Given the description of an element on the screen output the (x, y) to click on. 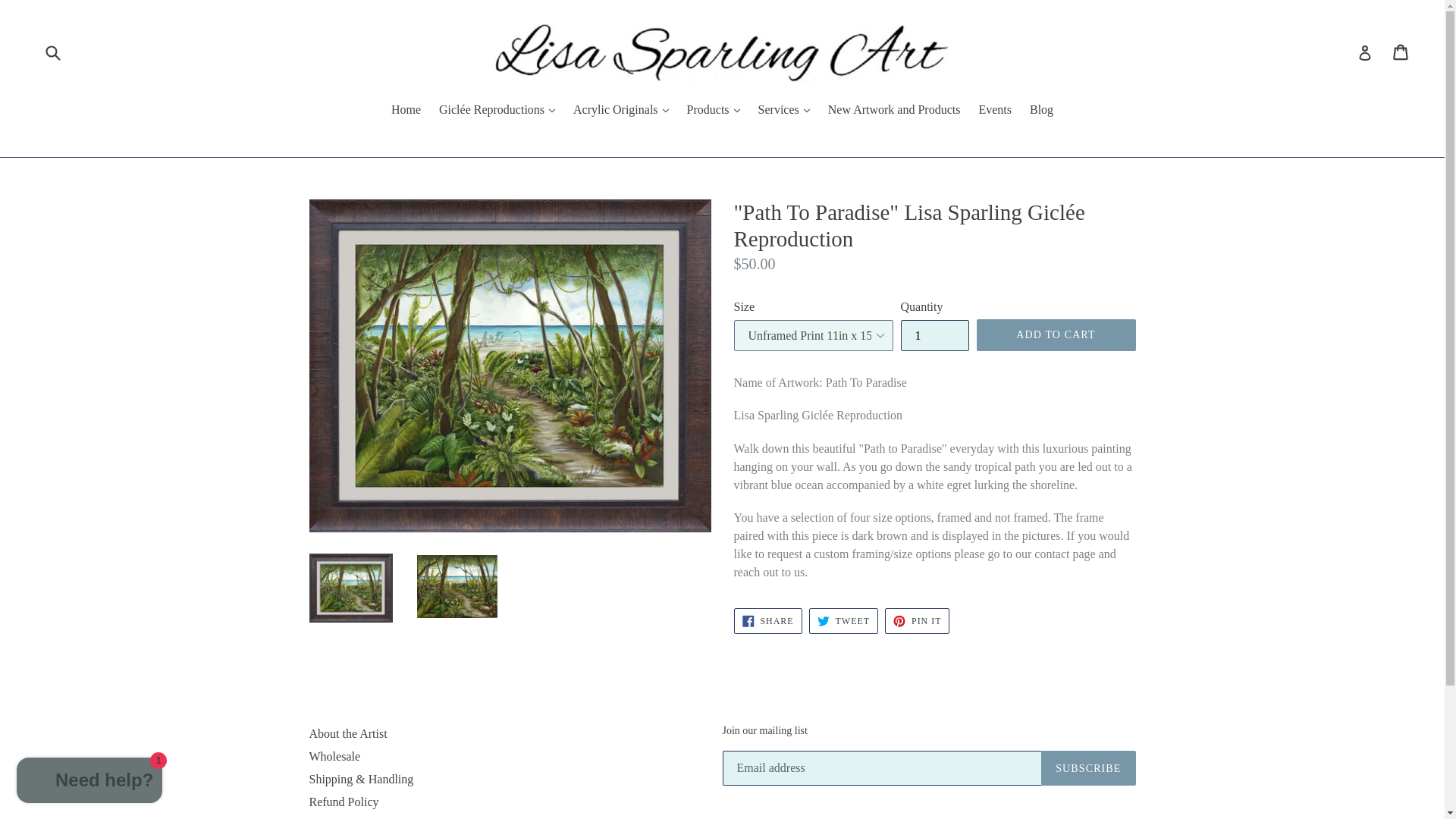
Share on Facebook (767, 620)
Shopify online store chat (89, 781)
Pin on Pinterest (917, 620)
Tweet on Twitter (843, 620)
1 (935, 335)
